Given the description of an element on the screen output the (x, y) to click on. 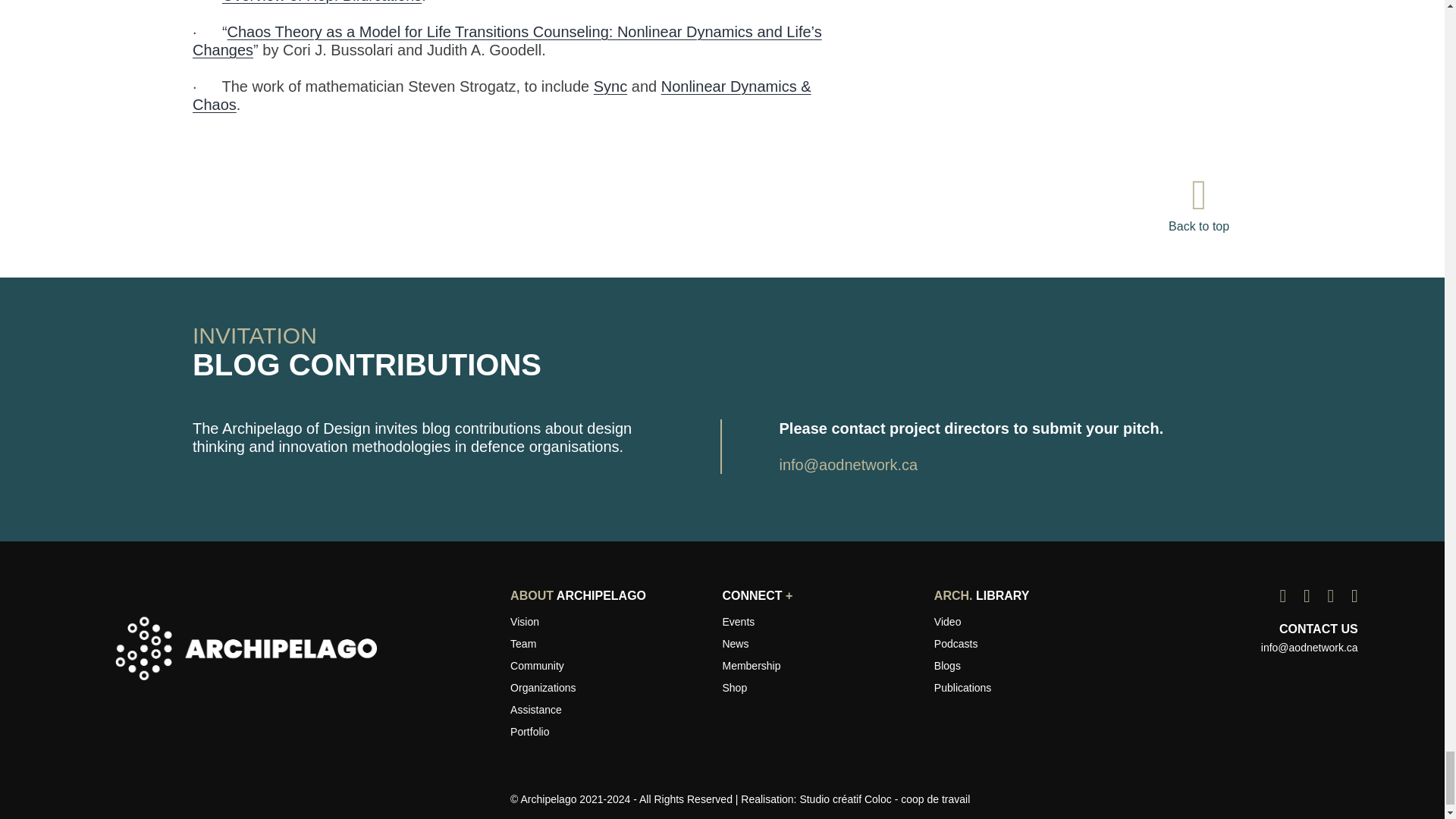
Overview of Hopf Bifurcations (322, 2)
Sync (610, 86)
Back to top (1198, 215)
Vision (524, 621)
ABOUT ARCHIPELAGO (578, 596)
